Given the description of an element on the screen output the (x, y) to click on. 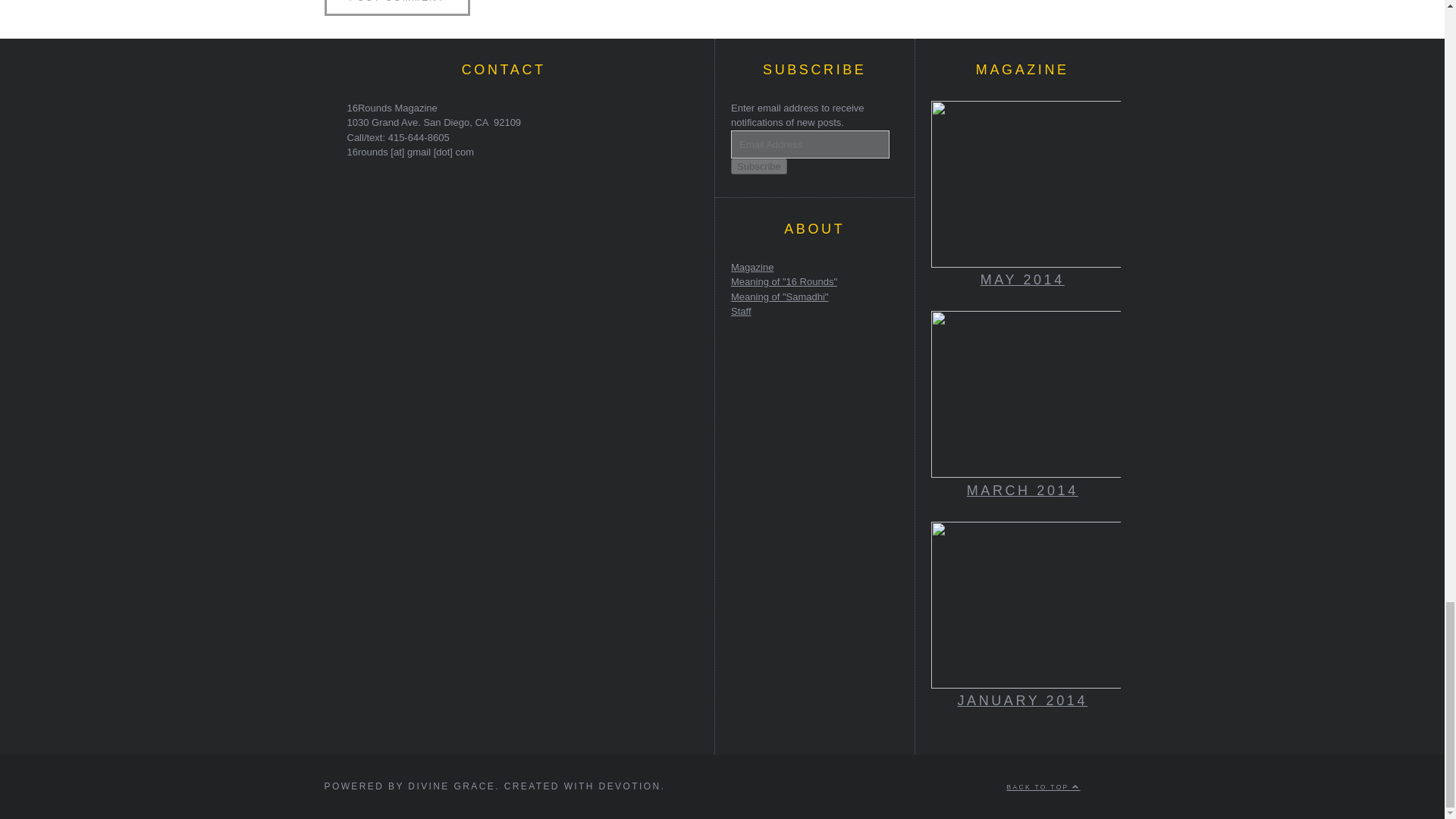
Post Comment (397, 7)
